Given the description of an element on the screen output the (x, y) to click on. 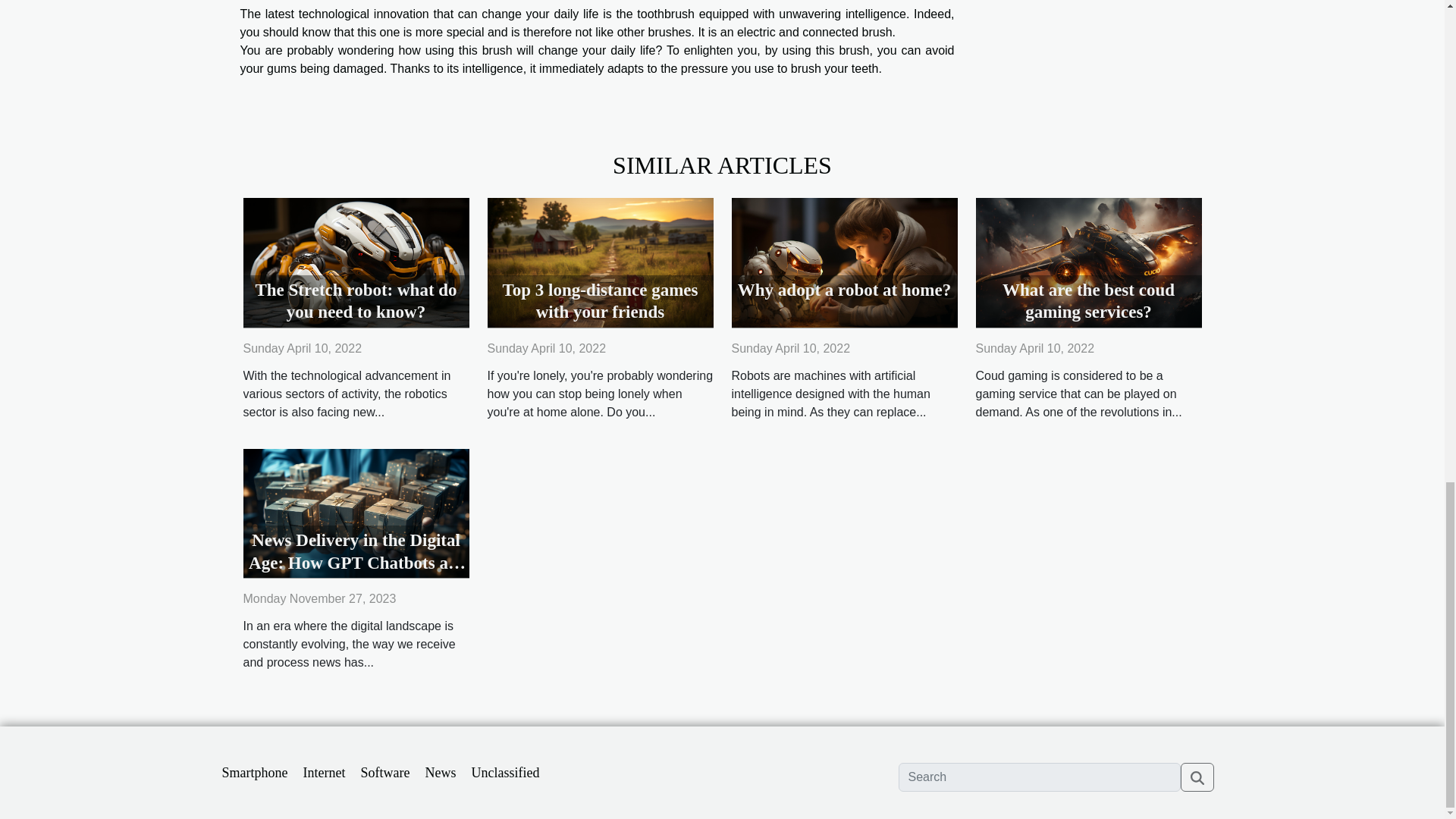
Top 3 long-distance games with your friends (600, 301)
The Stretch robot: what do you need to know? (355, 261)
Smartphone (253, 772)
Why adopt a robot at home? (843, 261)
Internet (324, 772)
What are the best coud gaming services? (1088, 301)
The Stretch robot: what do you need to know? (355, 301)
Why adopt a robot at home? (844, 289)
